Given the description of an element on the screen output the (x, y) to click on. 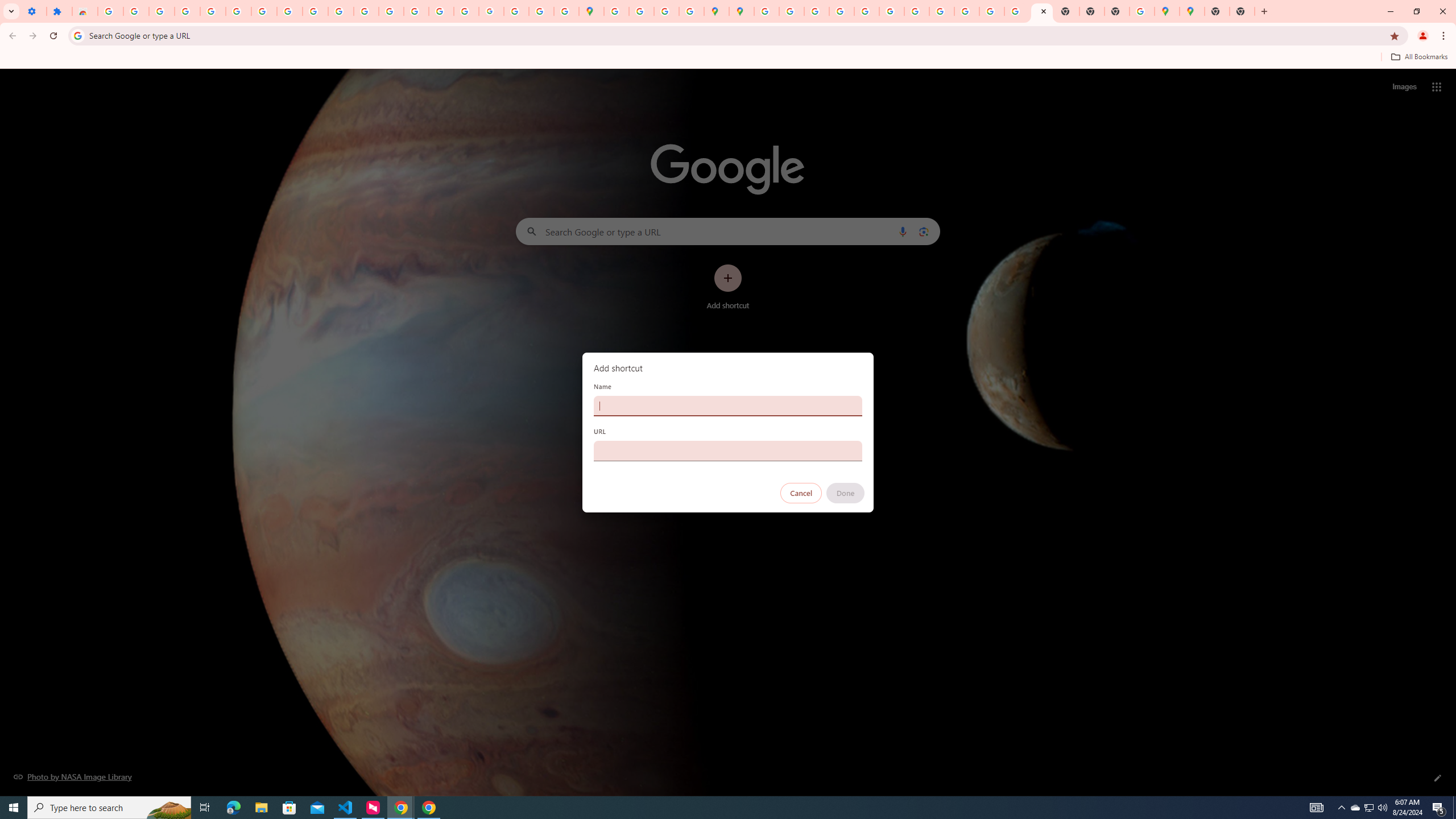
Privacy Help Center - Policies Help (841, 11)
Delete photos & videos - Computer - Google Photos Help (135, 11)
Name (727, 405)
